Given the description of an element on the screen output the (x, y) to click on. 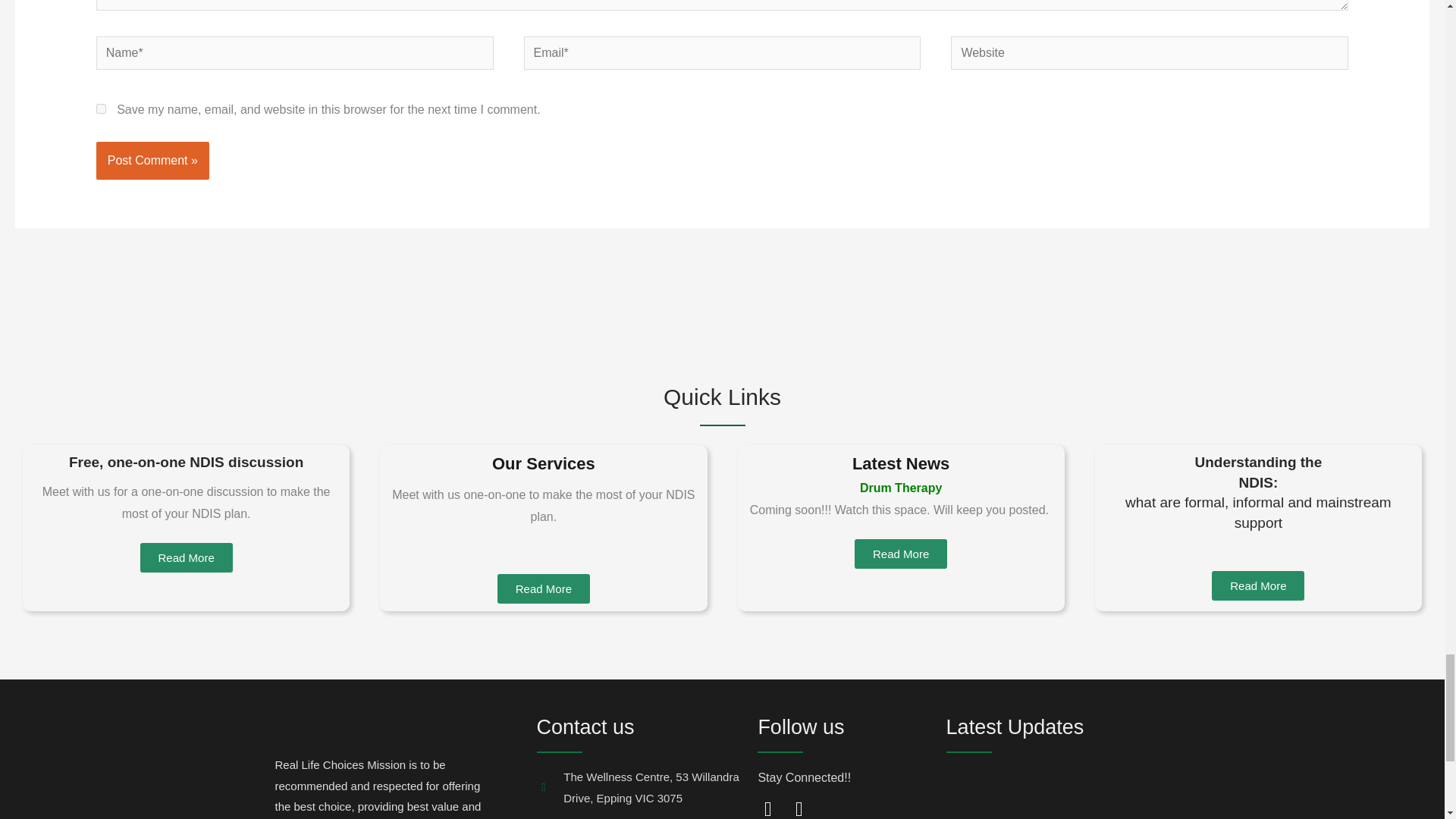
yes (101, 108)
